Given the description of an element on the screen output the (x, y) to click on. 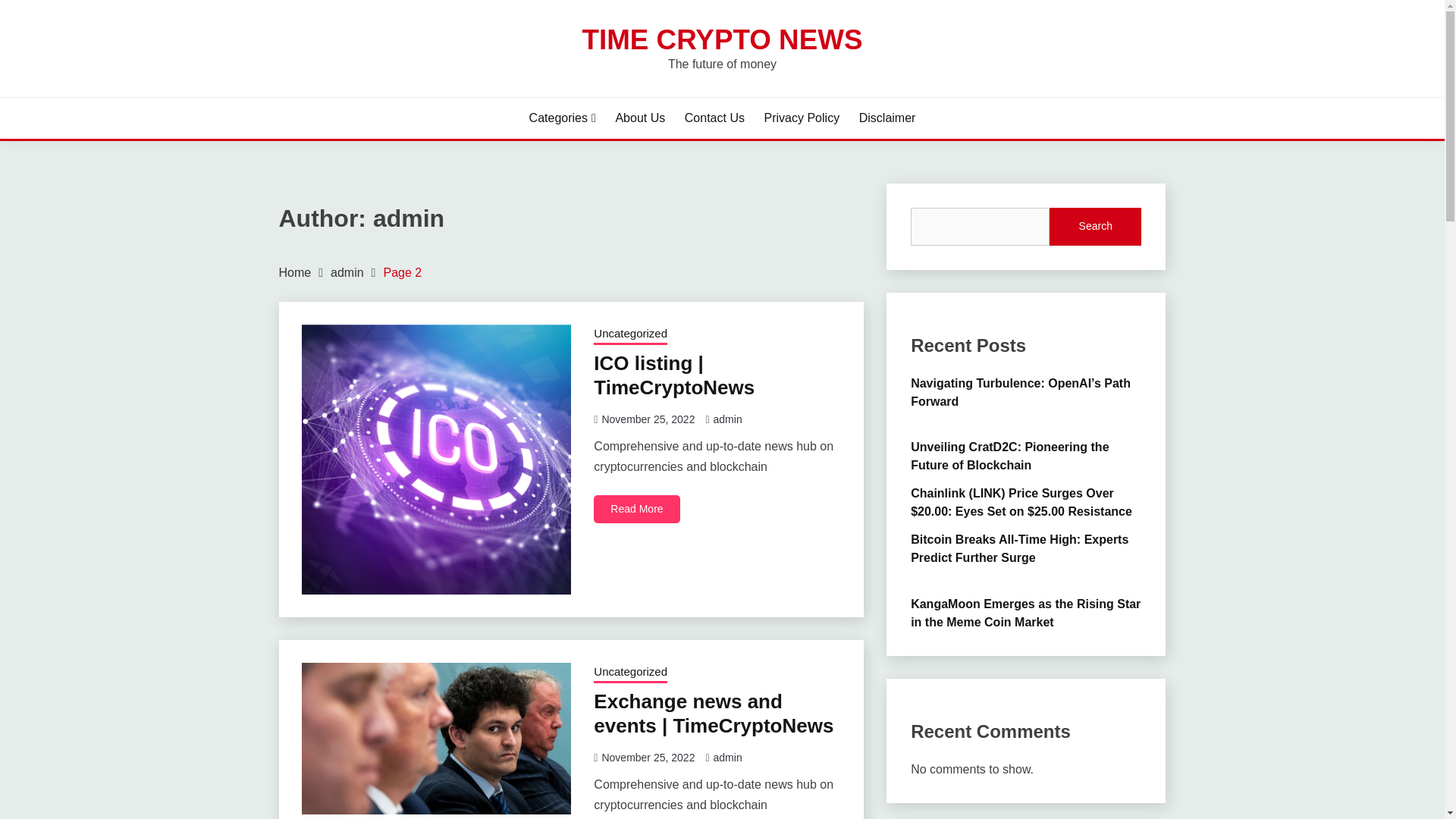
Privacy Policy (802, 117)
November 25, 2022 (647, 419)
Contact Us (714, 117)
Read More (636, 509)
Home (295, 272)
admin (727, 419)
admin (347, 272)
TIME CRYPTO NEWS (720, 39)
Categories (562, 117)
November 25, 2022 (647, 757)
